Given the description of an element on the screen output the (x, y) to click on. 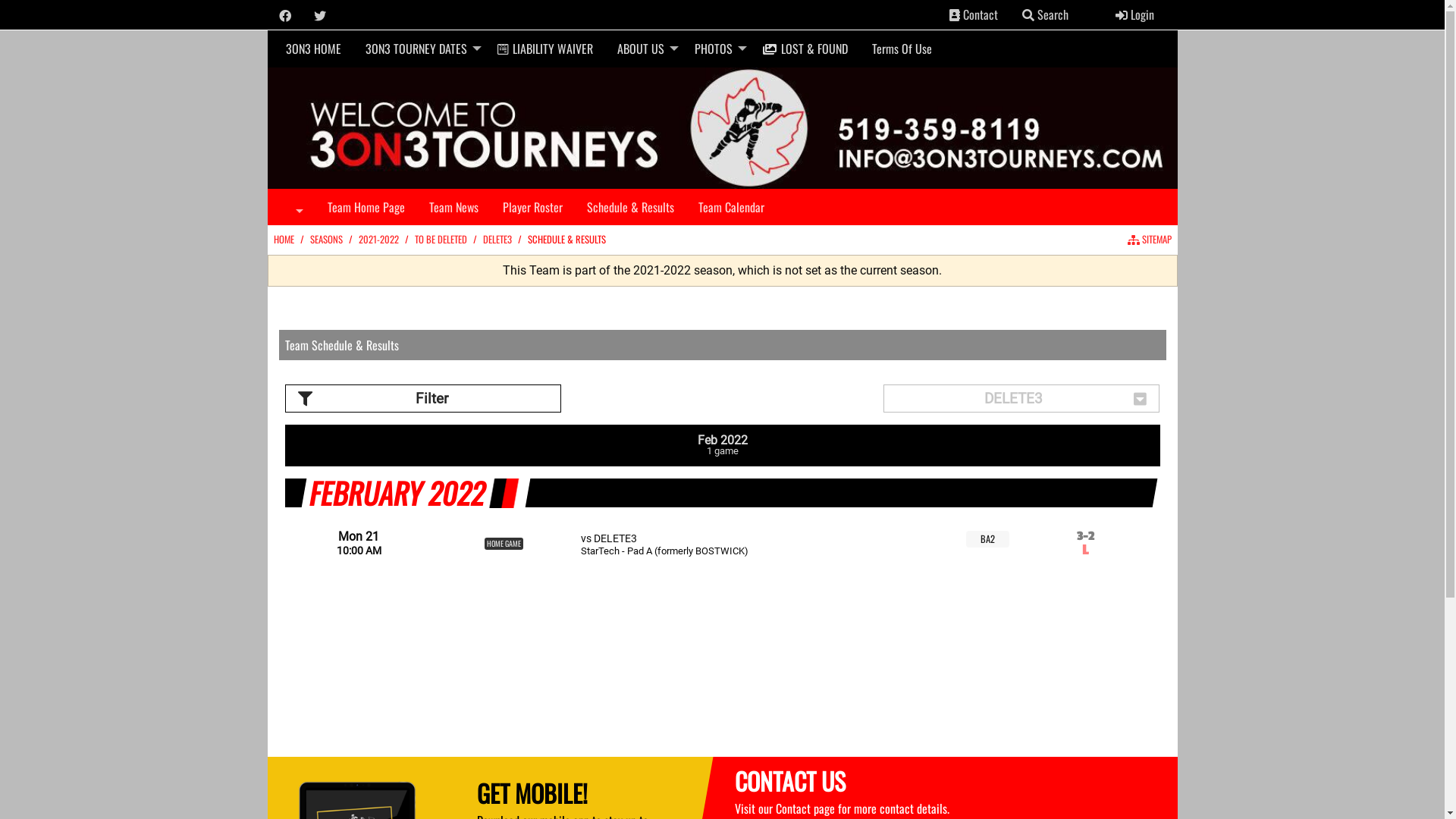
Team Home Page Element type: text (366, 205)
 SITEMAP Element type: text (1148, 239)
Player Roster Element type: text (532, 205)
 Login Element type: text (1133, 14)
Schedule & Results Element type: text (630, 205)
3ON3 HOME Element type: text (312, 48)
DELETE3 Element type: text (496, 239)
PHOTOS Element type: text (716, 48)
TO BE DELETED Element type: text (440, 239)
3ON3 TOURNEY DATES Element type: text (419, 48)
Team News Element type: text (453, 205)
LIABILITY WAIVER Element type: text (545, 48)
Twitter Element type: hover (319, 15)
HOME Element type: text (283, 239)
SEASONS Element type: text (325, 239)
ABOUT US Element type: text (643, 48)
Team Calendar Element type: text (731, 205)
Search Element type: hover (1028, 15)
 Contact Element type: text (973, 14)
Facebook Element type: hover (285, 15)
Filter Element type: text (423, 398)
2021-2022 Element type: text (377, 239)
DELETE3 Element type: text (1021, 398)
LOST & FOUND Element type: text (804, 48)
Terms Of Use Element type: text (901, 48)
Contacts Element type: hover (954, 15)
Contact Element type: text (792, 808)
 Search Element type: text (1045, 14)
